Given the description of an element on the screen output the (x, y) to click on. 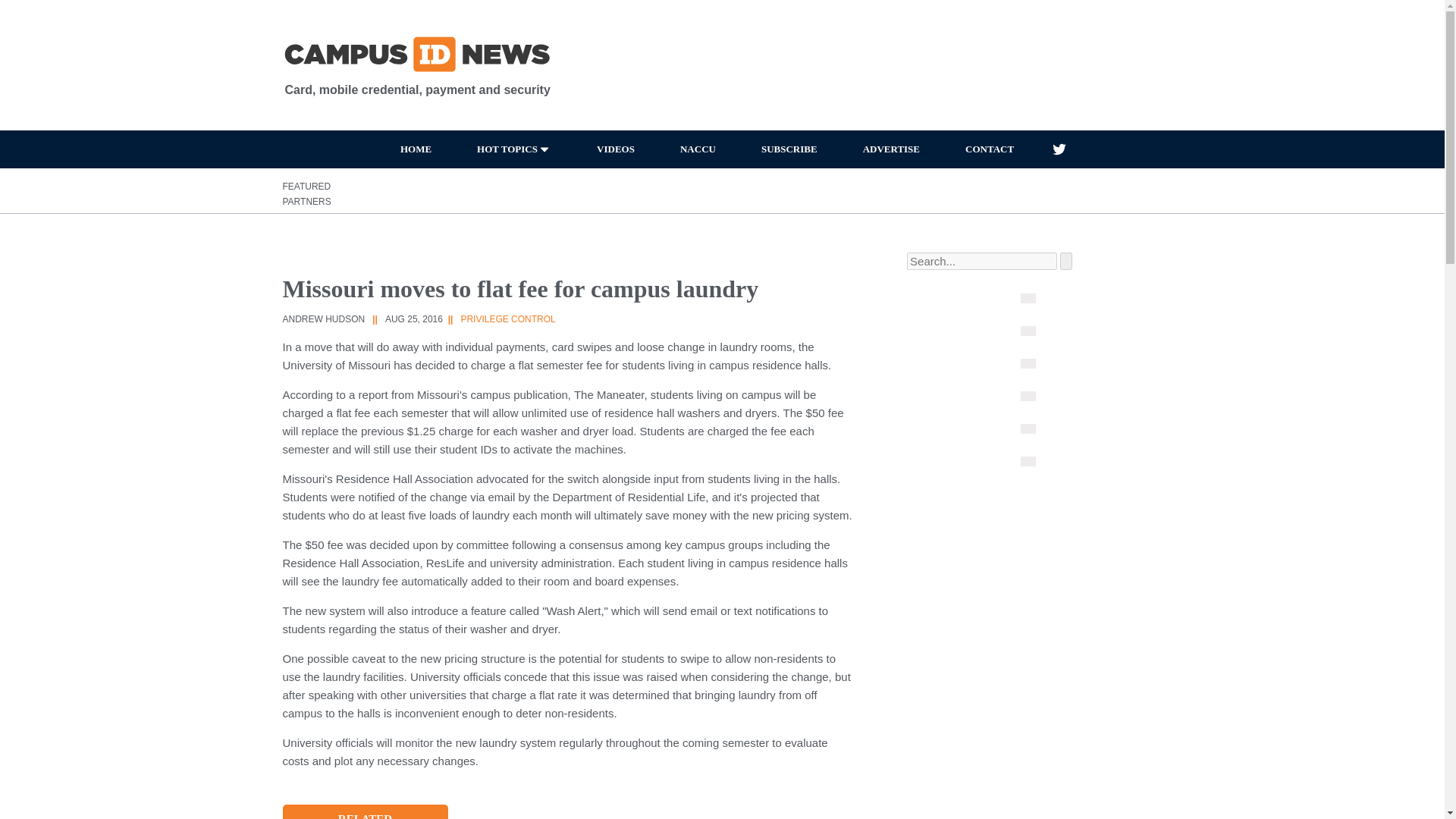
ADVERTISE (891, 149)
HOT TOPICS (513, 149)
CONTACT (989, 149)
SUBSCRIBE (789, 149)
NACCU (698, 149)
PRIVILEGE CONTROL (507, 318)
HOME (415, 149)
VIDEOS (615, 149)
